Given the description of an element on the screen output the (x, y) to click on. 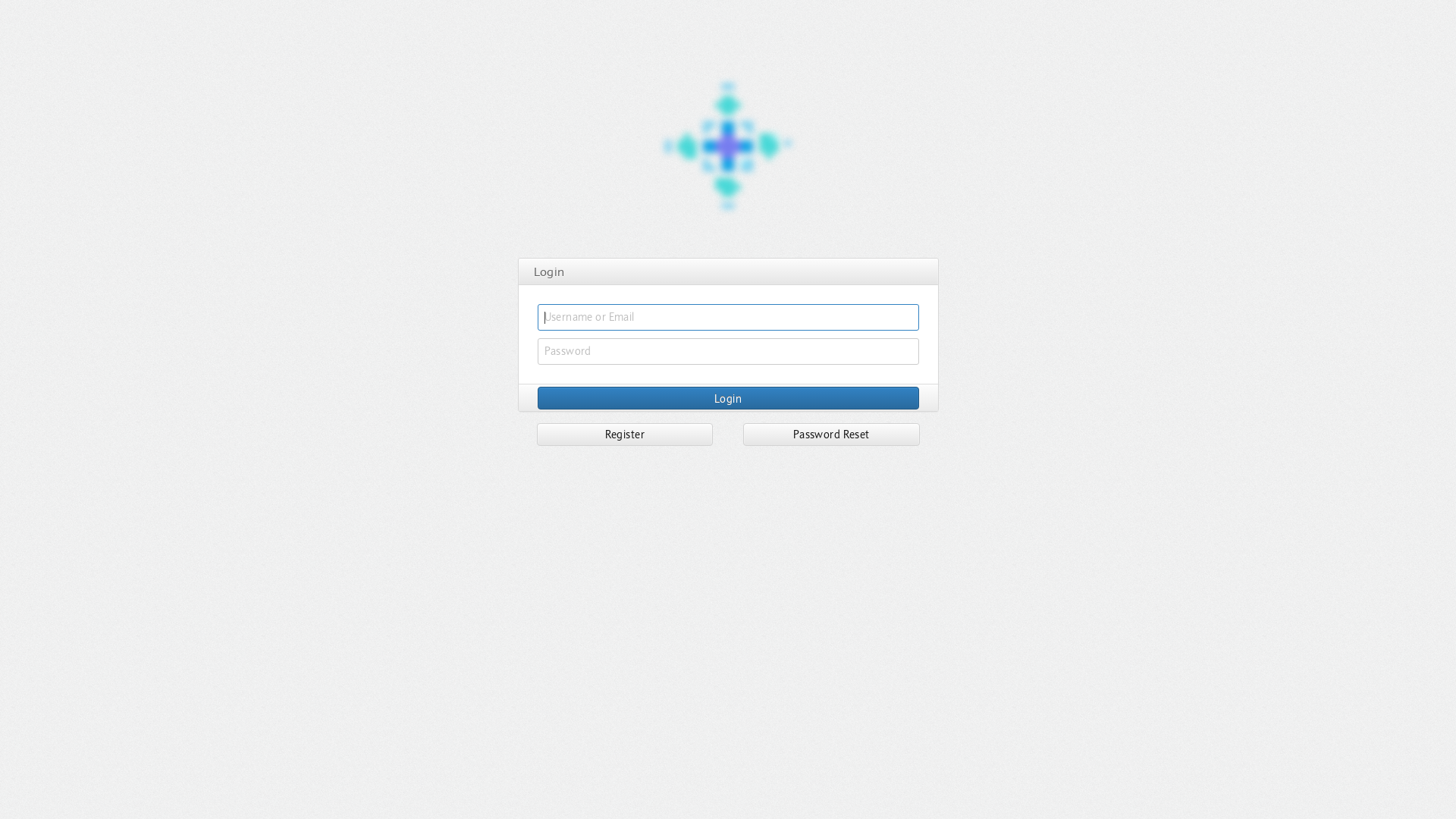
Password Reset Element type: text (831, 434)
Register Element type: text (624, 434)
